Given the description of an element on the screen output the (x, y) to click on. 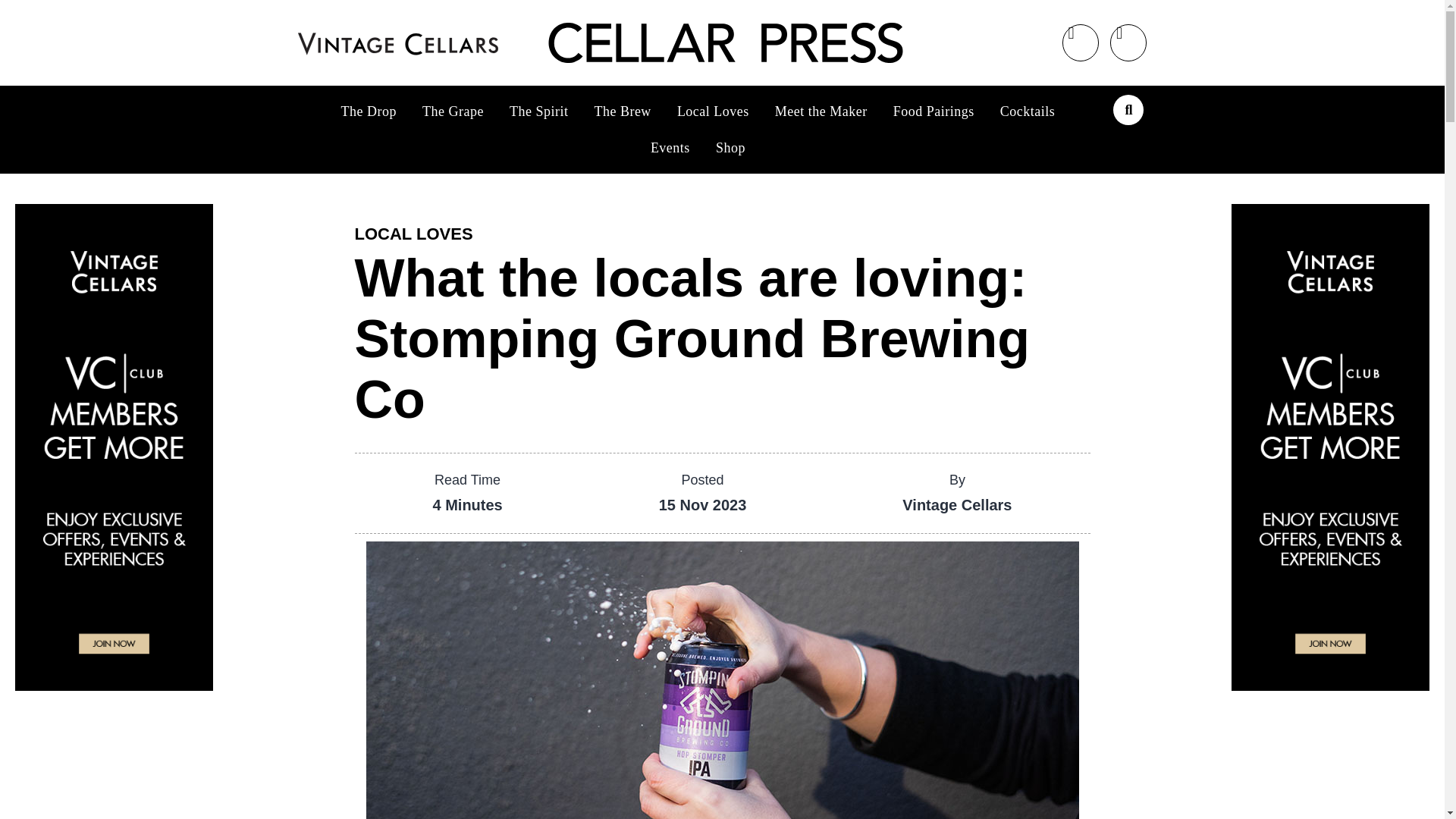
Events (670, 147)
Shop (730, 147)
The Grape (452, 111)
The Drop (368, 111)
Local Loves (712, 111)
The Spirit (538, 111)
Meet the Maker (820, 111)
Cocktails (1027, 111)
The Brew (621, 111)
Food Pairings (933, 111)
